Given the description of an element on the screen output the (x, y) to click on. 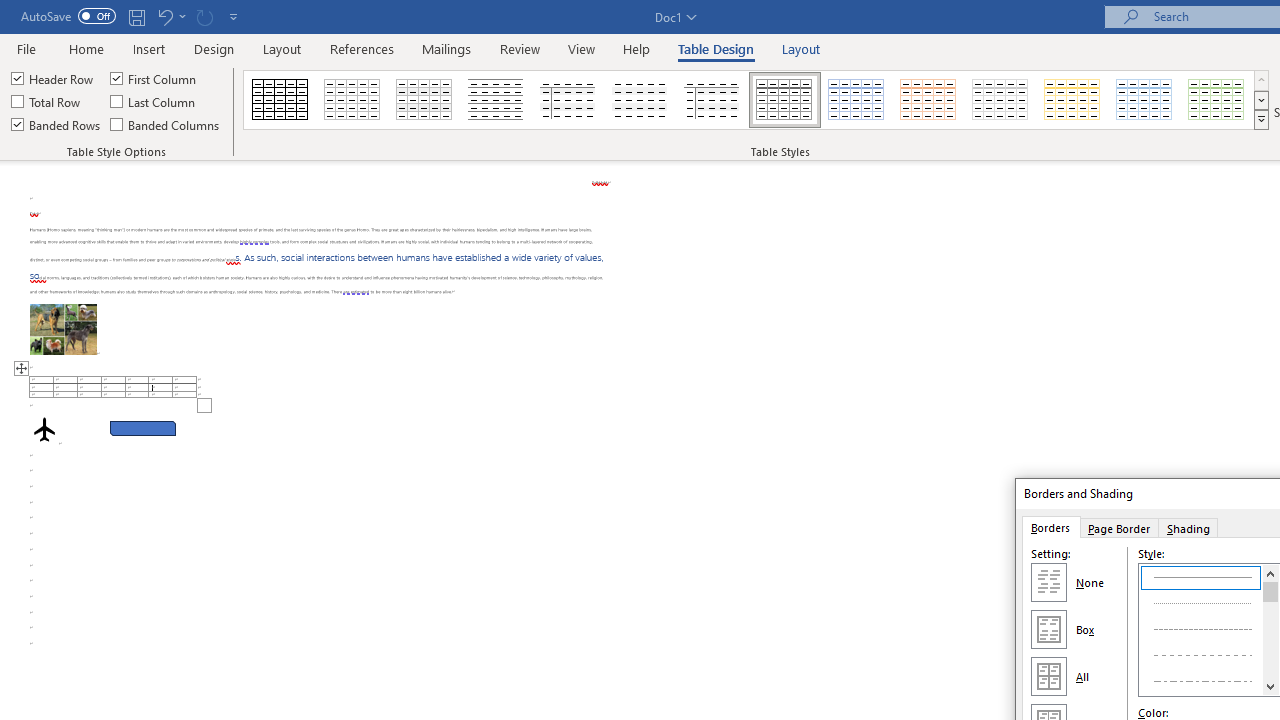
AutomationID: TableStylesGalleryWord (756, 99)
Grid Table 1 Light - Accent 5 (1144, 100)
Line down (1270, 686)
Page Border (1118, 527)
All (1048, 676)
Plain Table 3 (568, 100)
Plain Table 5 (712, 100)
Rectangle: Diagonal Corners Snipped 2 (143, 428)
